Given the description of an element on the screen output the (x, y) to click on. 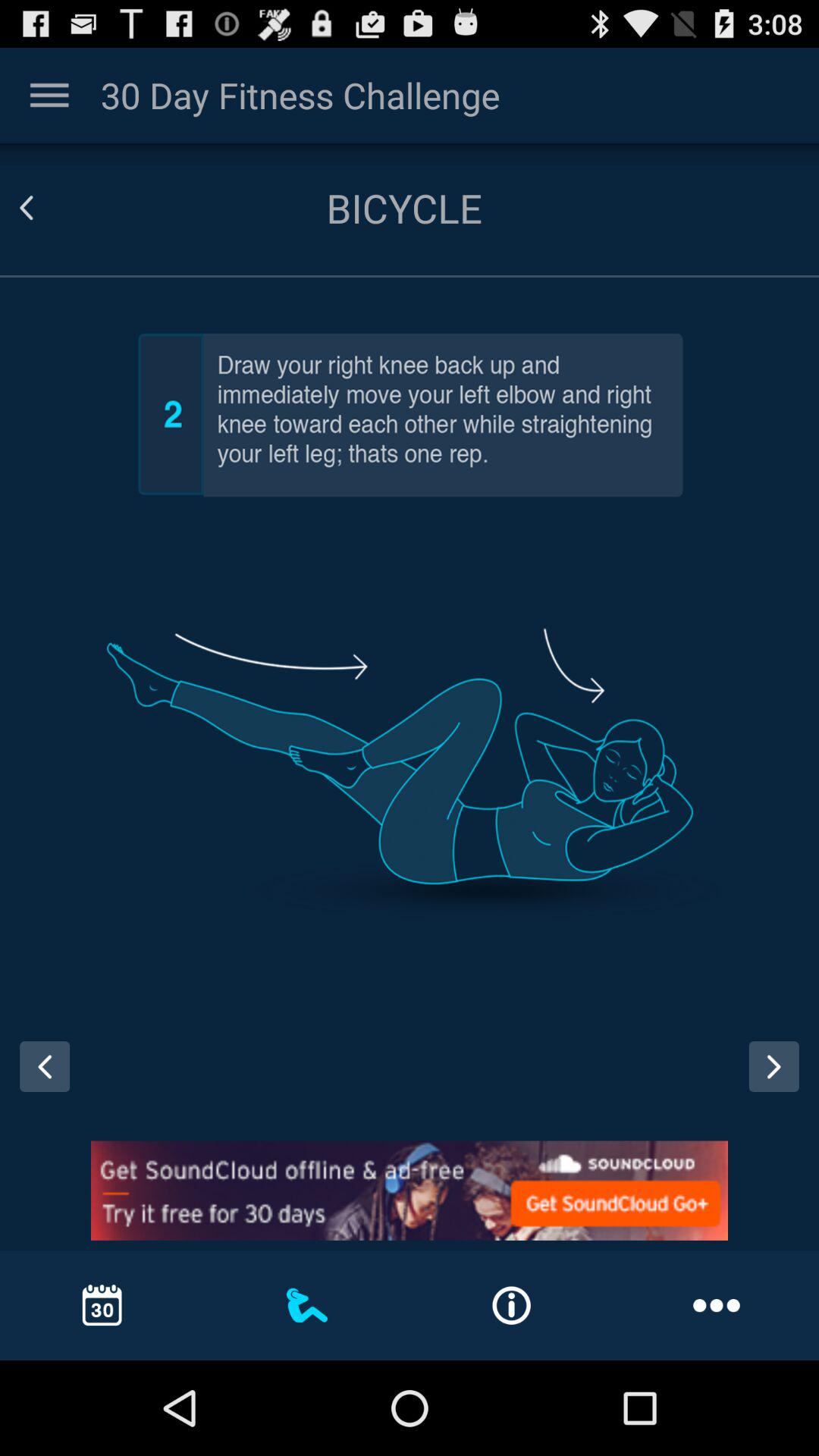
go back button (39, 1081)
